Given the description of an element on the screen output the (x, y) to click on. 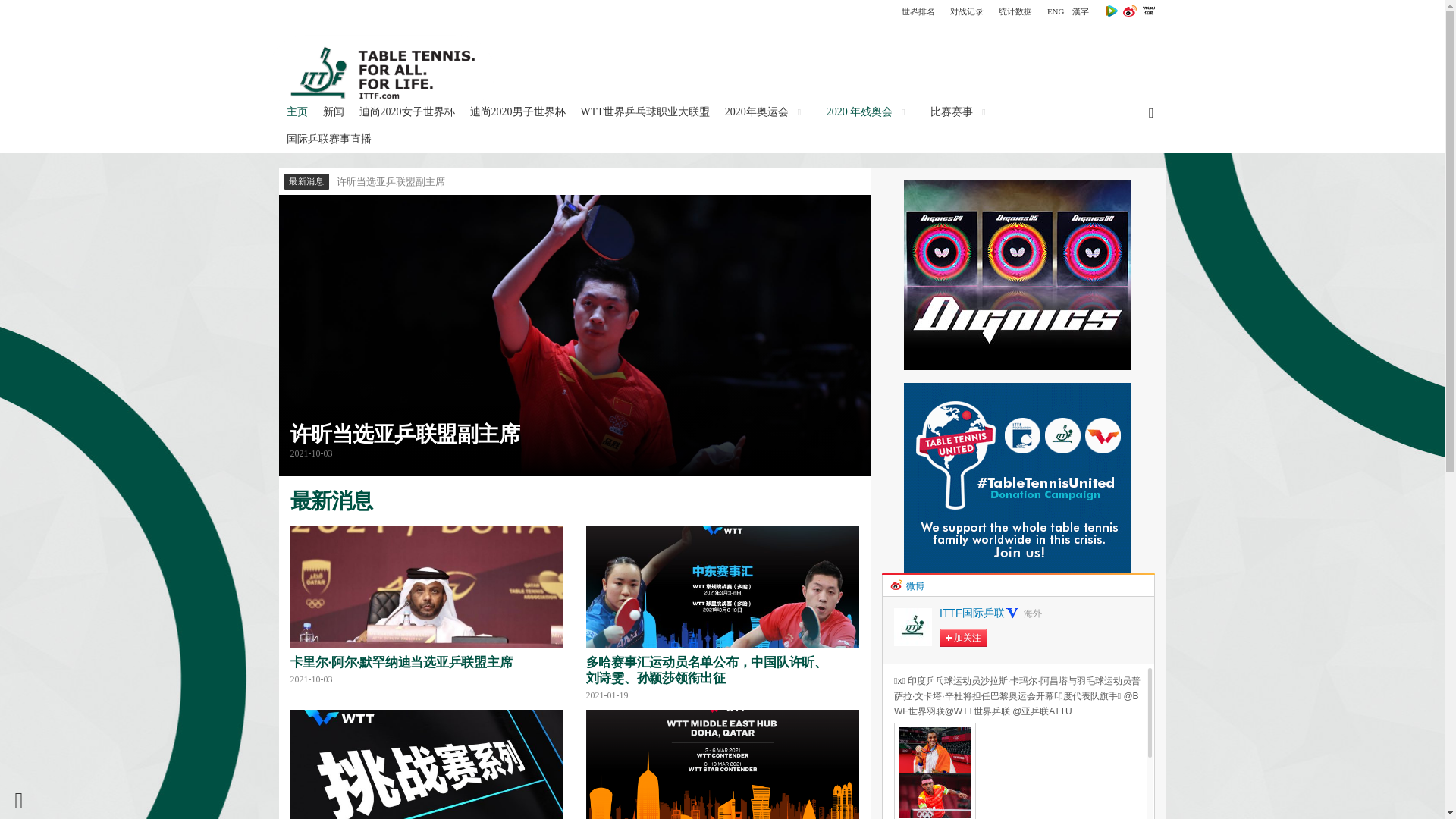
ENG (1055, 10)
